Given the description of an element on the screen output the (x, y) to click on. 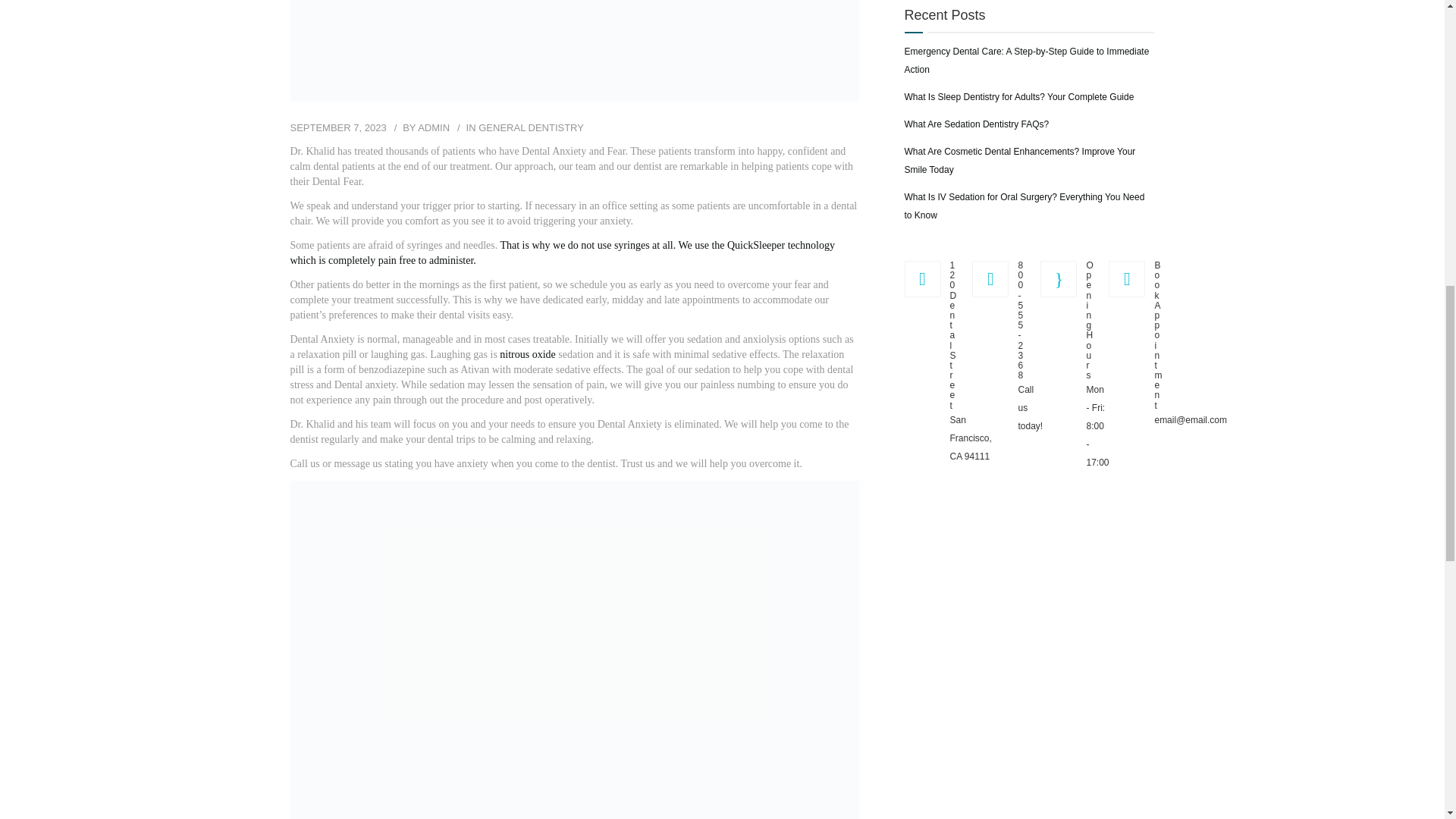
ADMIN (433, 127)
GENERAL DENTISTRY (531, 127)
nitrous oxide (527, 354)
